Given the description of an element on the screen output the (x, y) to click on. 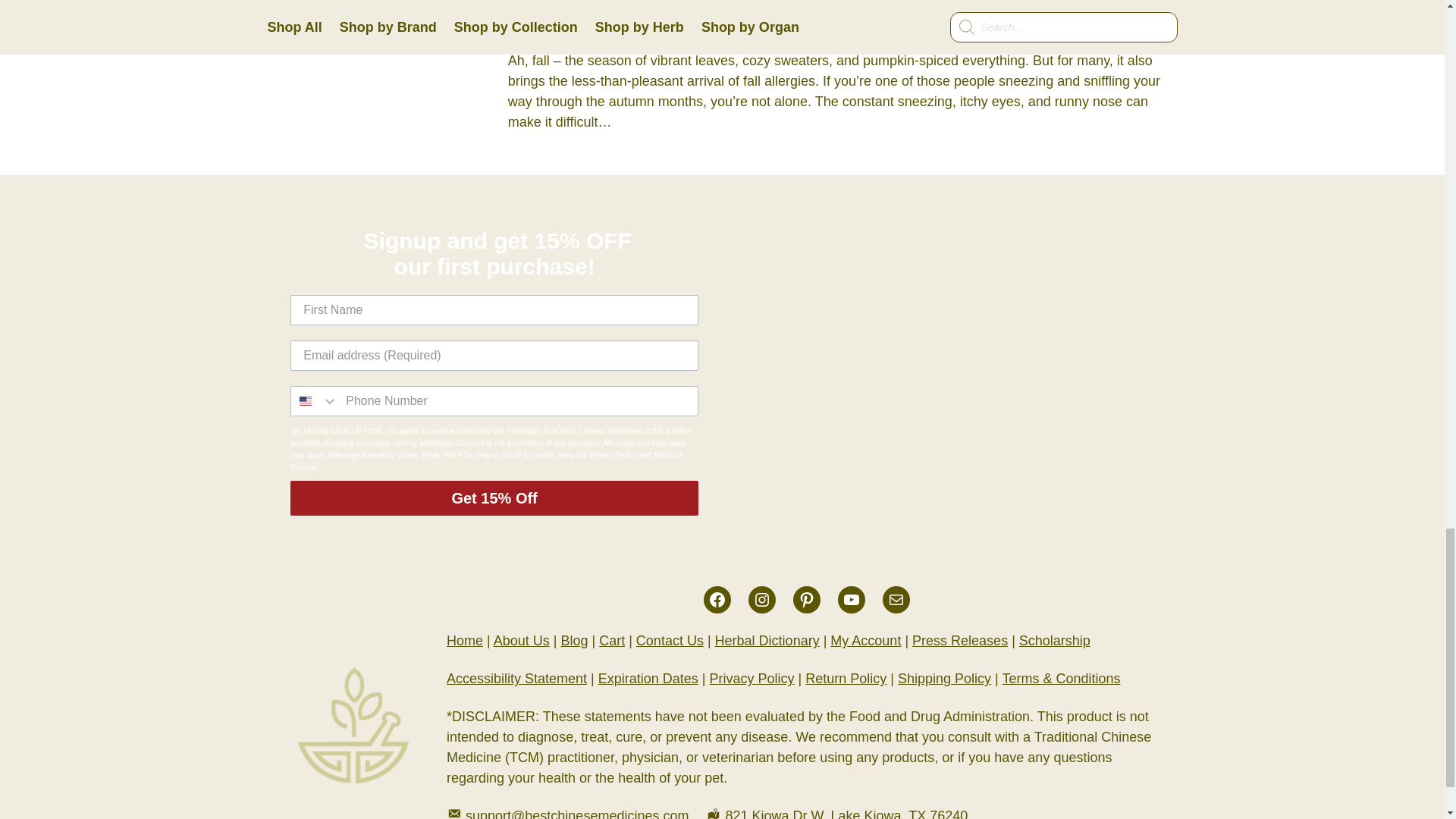
Pinterest (807, 599)
Mail (896, 599)
Instagram (762, 599)
Contact Us (669, 640)
YouTube (851, 599)
Facebook (716, 599)
Home (464, 640)
United States (305, 400)
About Us (521, 640)
Blog (574, 640)
Cart (611, 640)
